Given the description of an element on the screen output the (x, y) to click on. 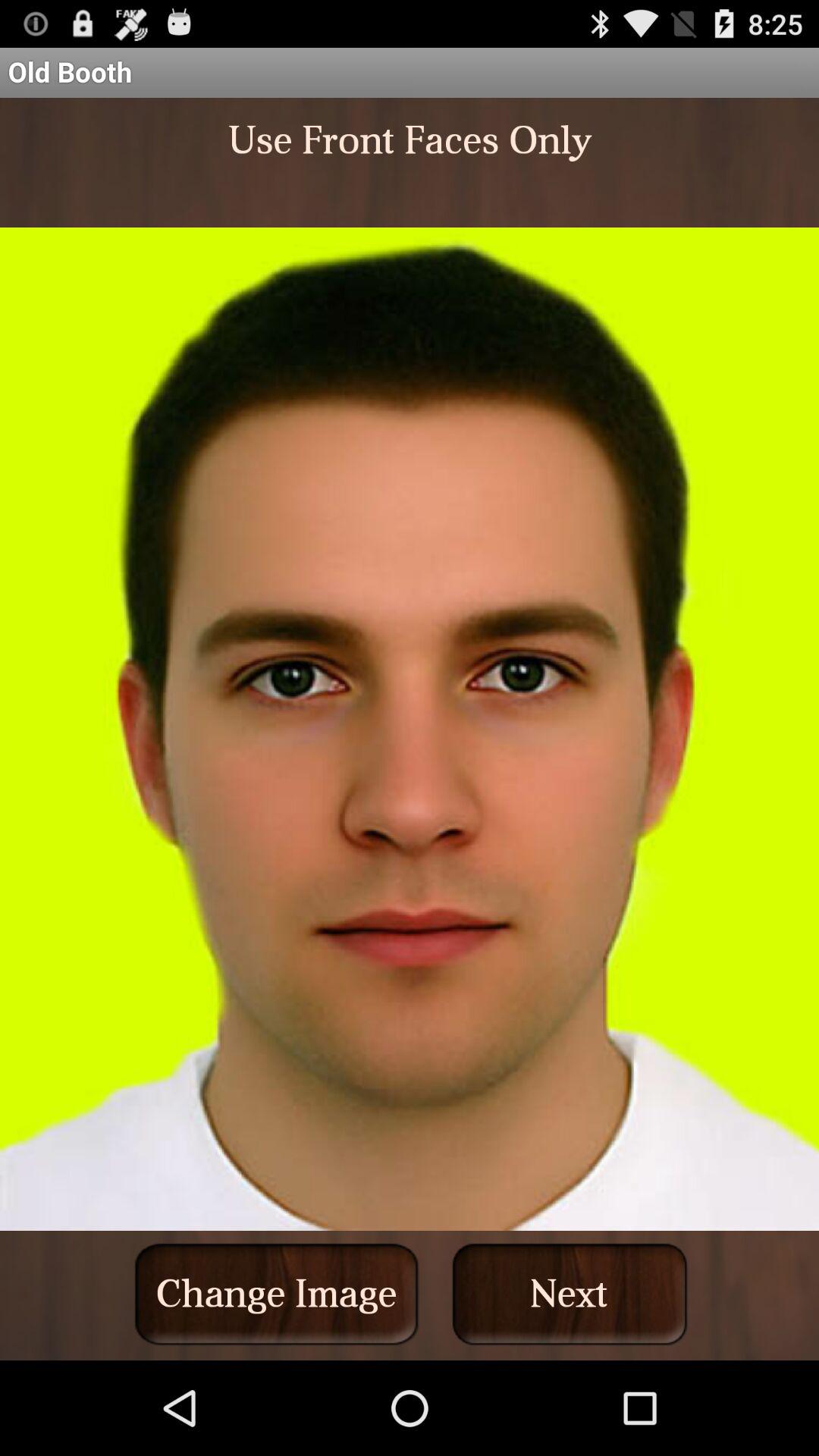
tap the button next to the change image button (569, 1293)
